Given the description of an element on the screen output the (x, y) to click on. 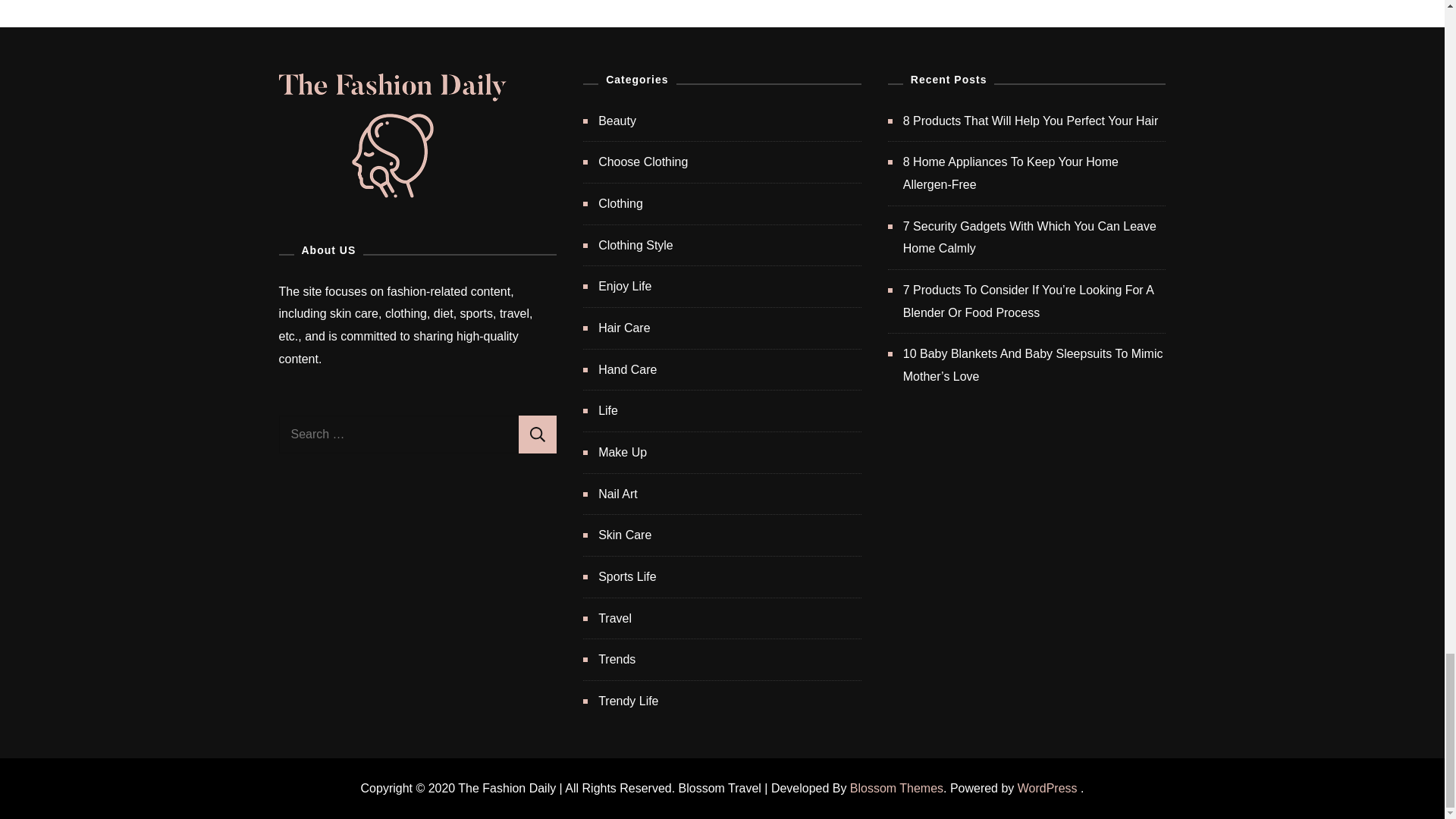
Search (537, 434)
Search (537, 434)
